Given the description of an element on the screen output the (x, y) to click on. 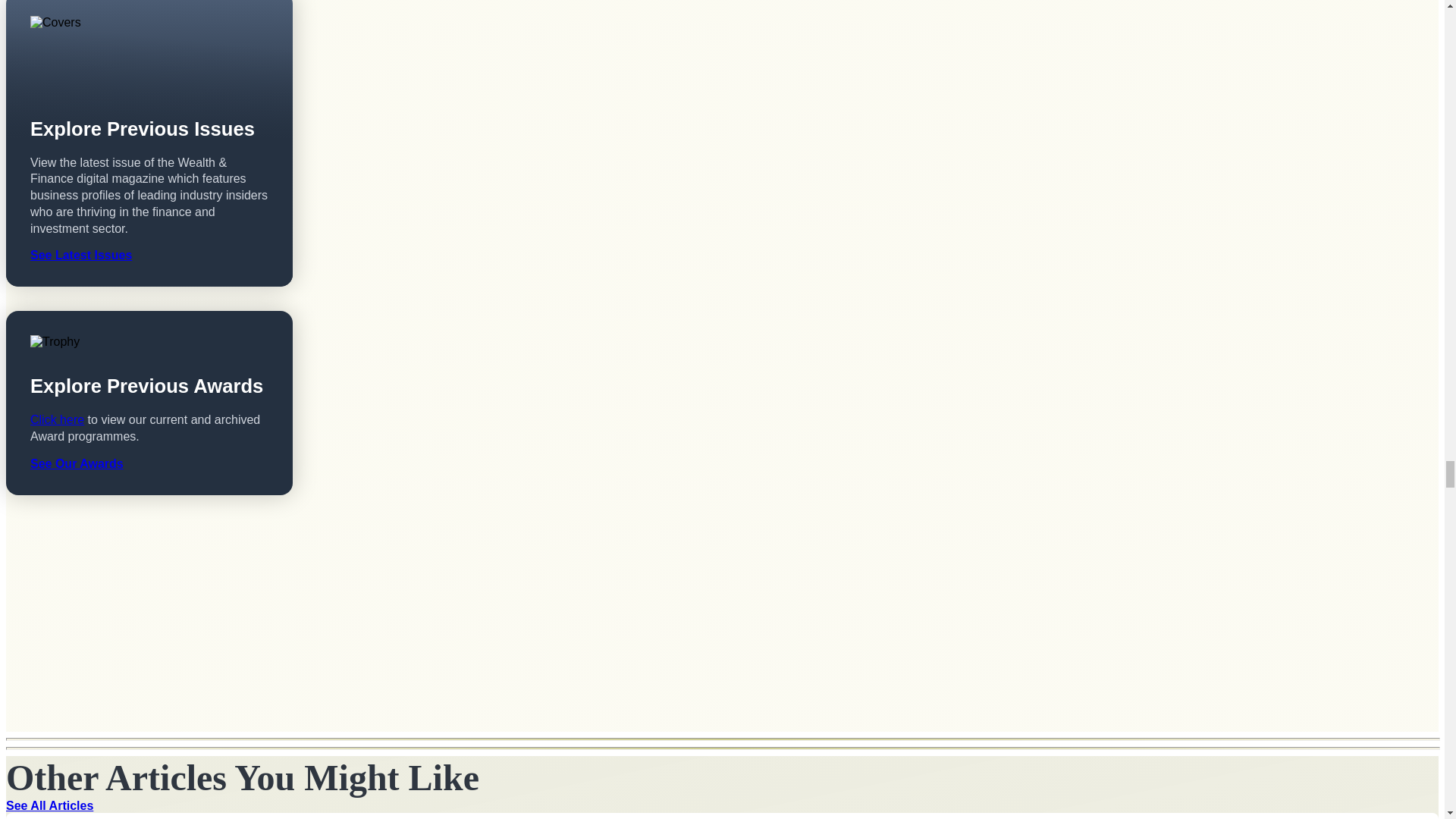
Advertisement (148, 625)
